Given the description of an element on the screen output the (x, y) to click on. 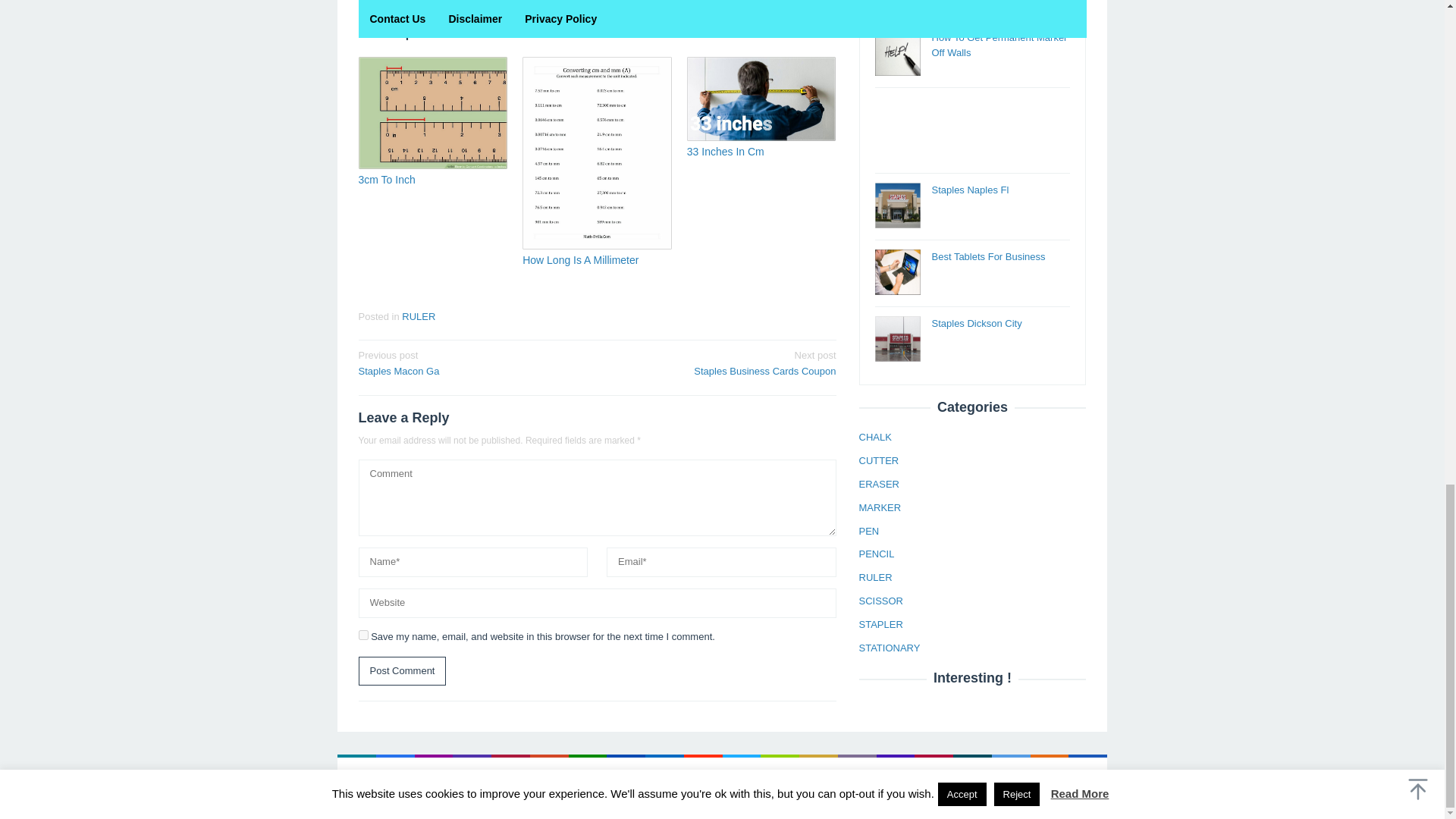
Permalink to: 3cm To Inch (432, 112)
yes (721, 362)
Post Comment (363, 634)
33 Inches In Cm (401, 671)
RULER (472, 362)
Post Comment (725, 151)
How Long Is A Millimeter (418, 316)
3cm To Inch (401, 671)
Permalink to: 3cm To Inch (580, 259)
